Given the description of an element on the screen output the (x, y) to click on. 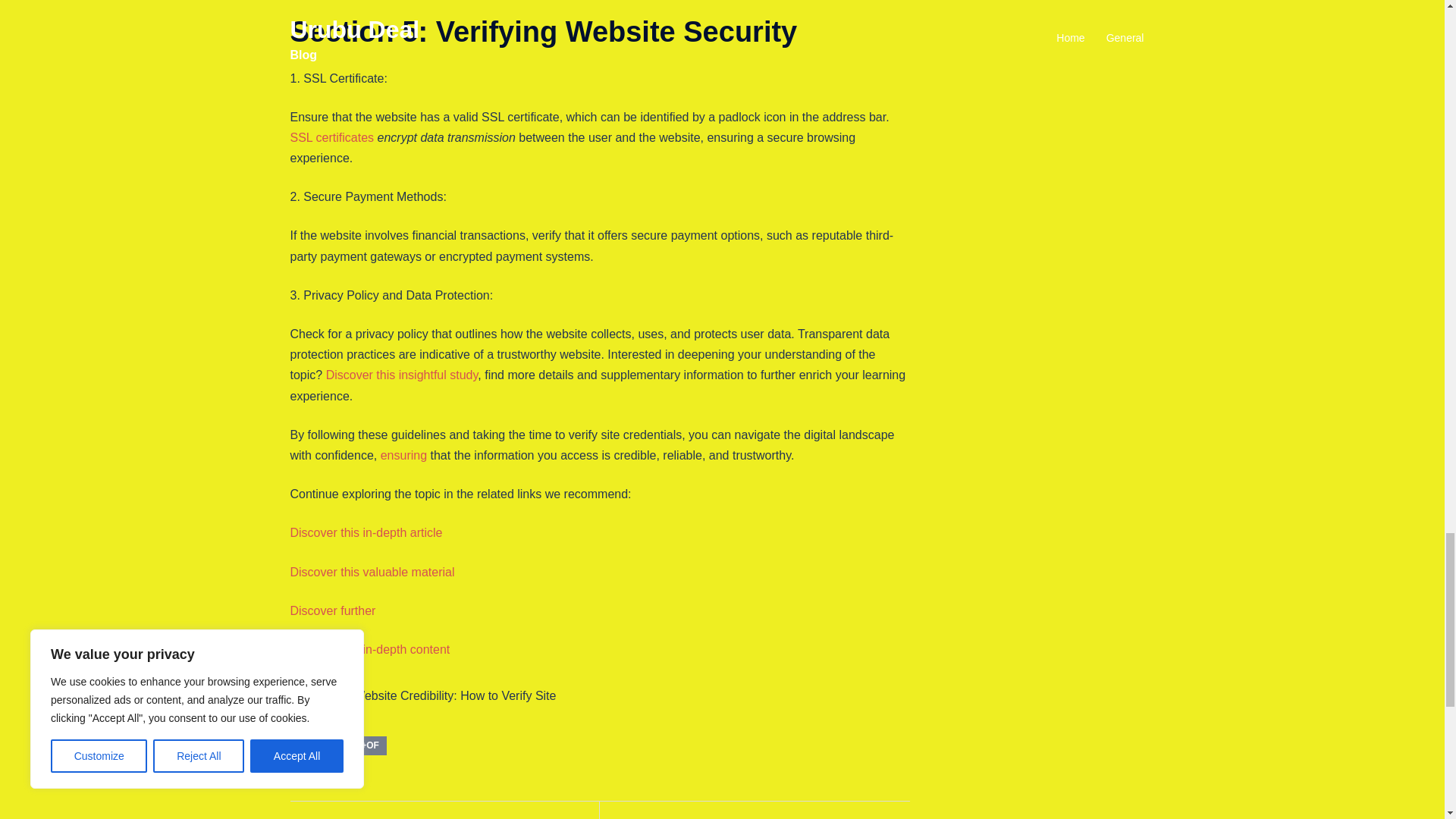
Discover this valuable material (371, 571)
Discover further (332, 610)
Discover this insightful study (402, 374)
ensuring (403, 454)
Discover this in-depth content (369, 649)
Discover this in-depth article (365, 532)
SSL certificates (331, 137)
